Given the description of an element on the screen output the (x, y) to click on. 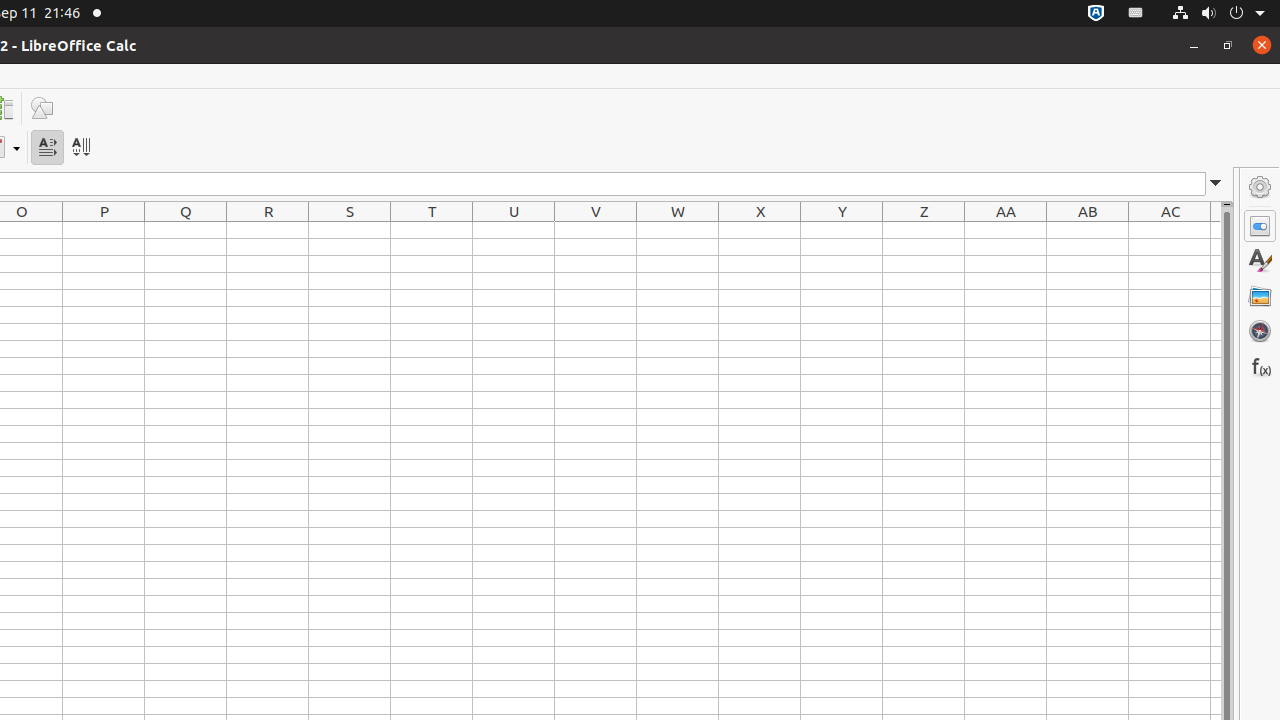
W1 Element type: table-cell (678, 230)
X1 Element type: table-cell (760, 230)
Z1 Element type: table-cell (924, 230)
P1 Element type: table-cell (104, 230)
